Given the description of an element on the screen output the (x, y) to click on. 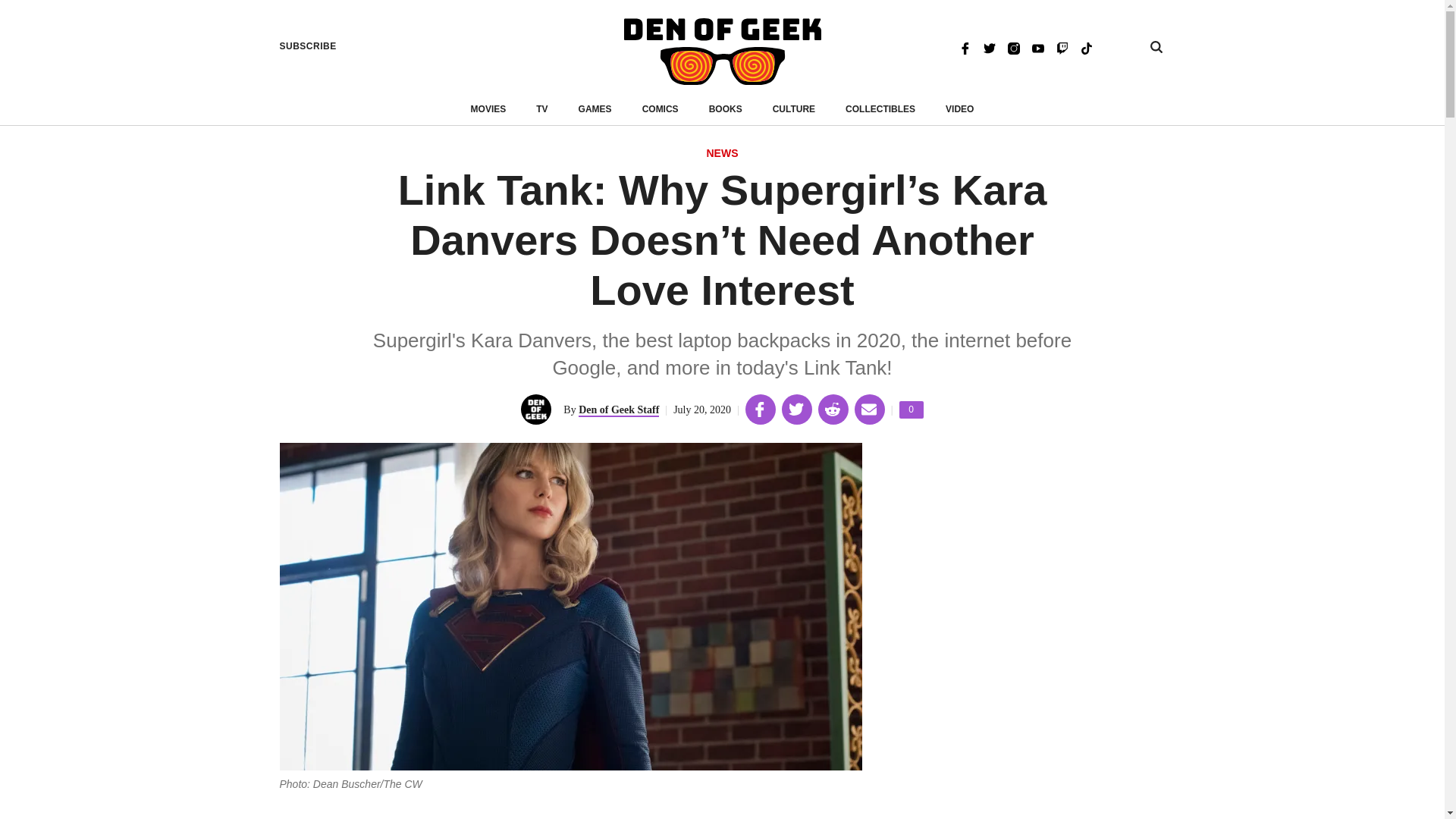
TikTok (911, 409)
Den of Geek Staff (1085, 46)
BOOKS (618, 410)
VIDEO (725, 109)
COLLECTIBLES (959, 109)
MOVIES (880, 109)
GAMES (488, 109)
SUBSCRIBE (594, 109)
Instagram (307, 46)
